Given the description of an element on the screen output the (x, y) to click on. 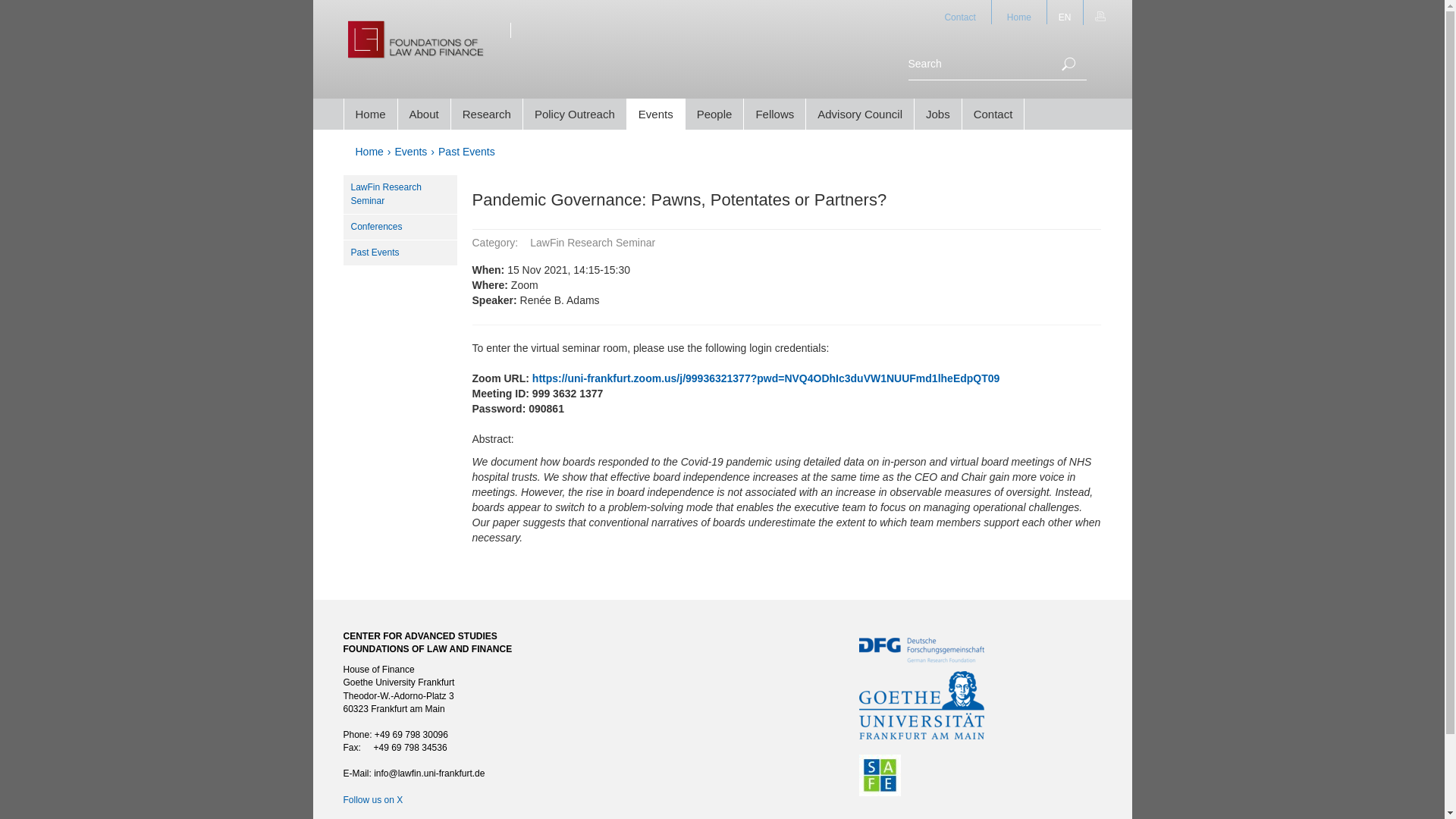
LawFin Research Seminar (399, 194)
Imprint (360, 818)
Opens internal link in current window (372, 799)
Conferences (399, 227)
Home (368, 151)
Suche (1067, 63)
Contact (993, 113)
Events (411, 151)
Follow us on X (372, 799)
Past Events (466, 151)
Home (1018, 12)
LawFin Research Seminar (399, 194)
People (714, 113)
Research (486, 113)
Imprint (360, 818)
